Given the description of an element on the screen output the (x, y) to click on. 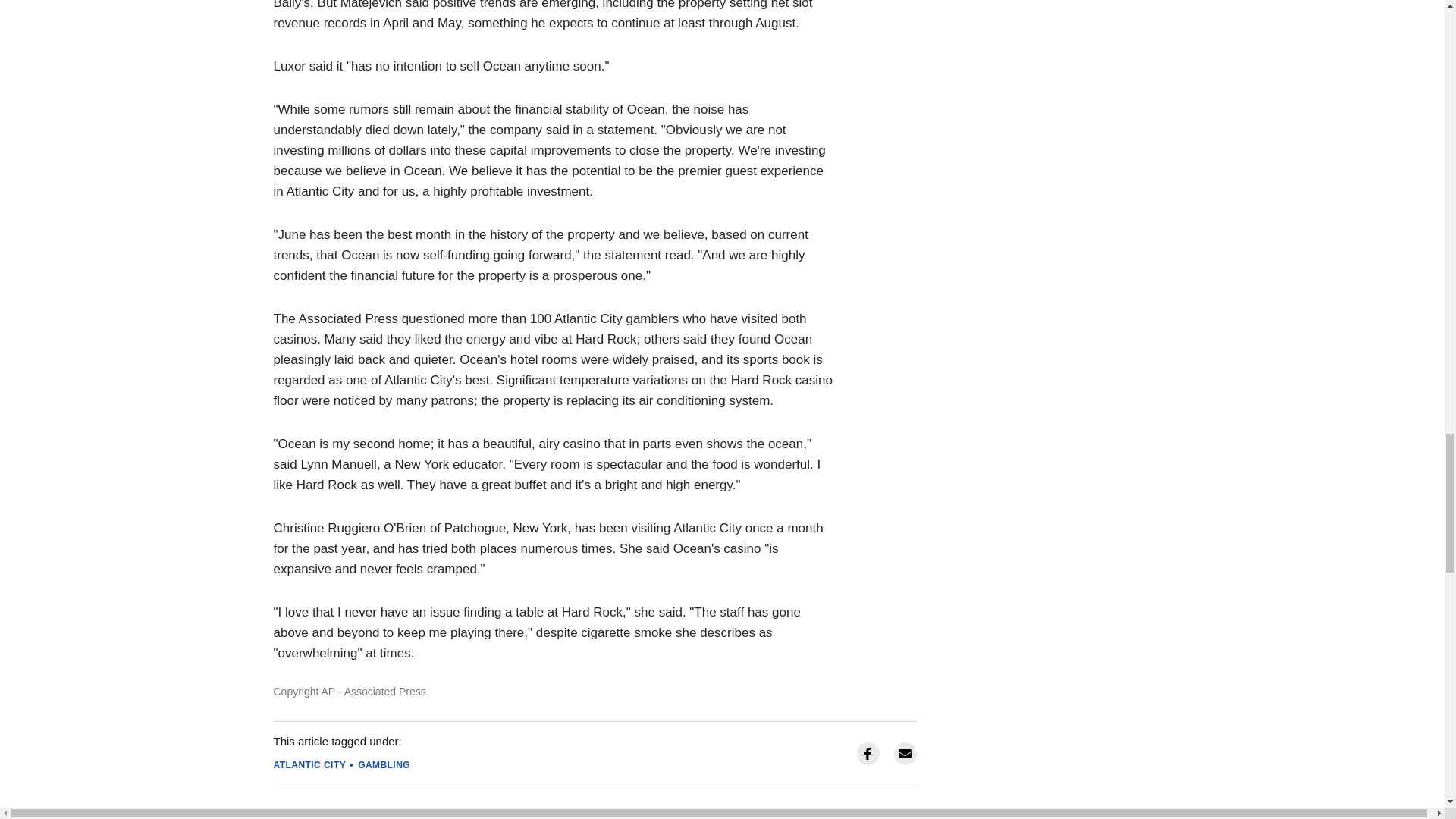
ATLANTIC CITY (309, 764)
GAMBLING (384, 764)
